Given the description of an element on the screen output the (x, y) to click on. 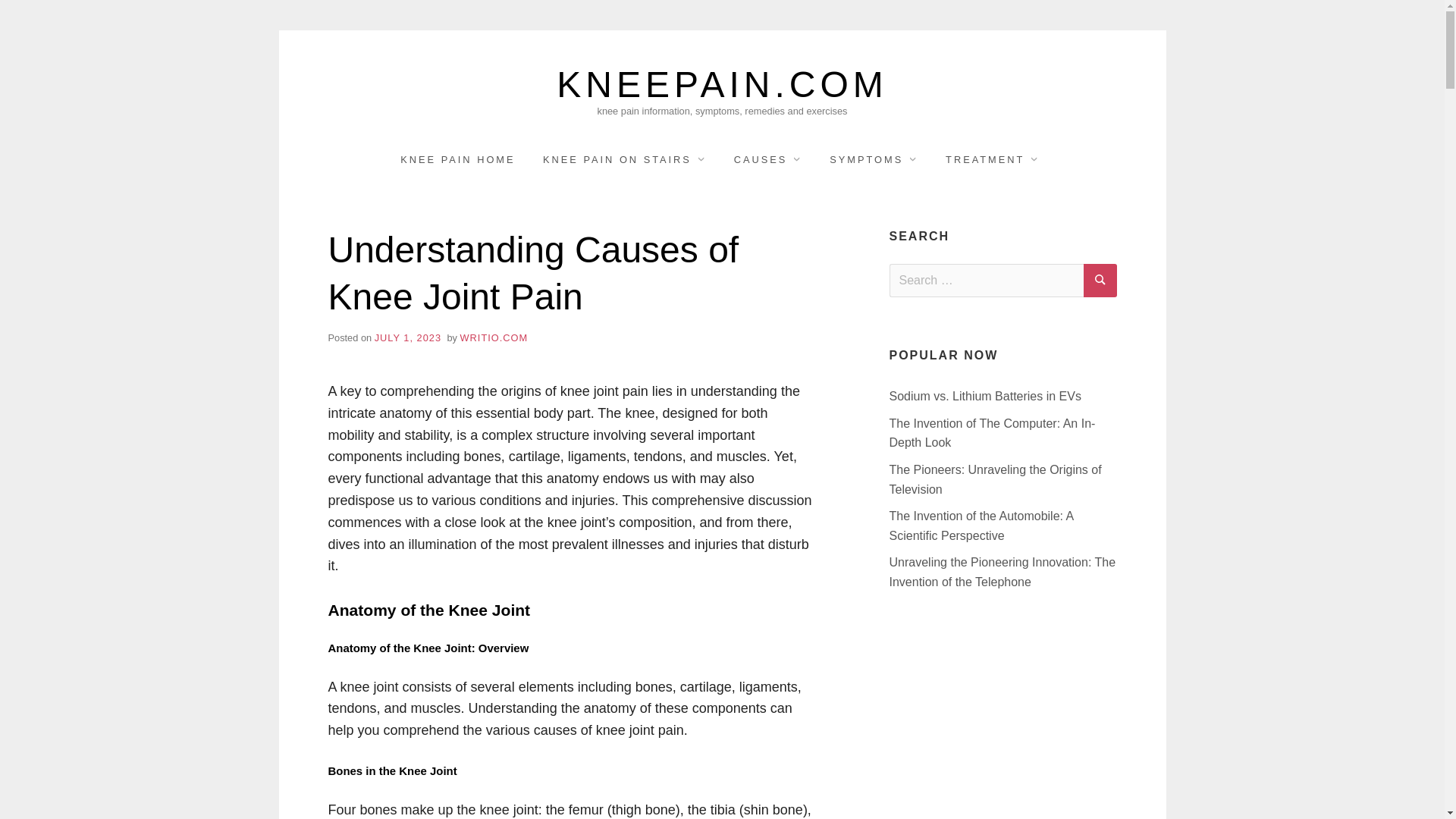
SYMPTOMS (873, 158)
KNEEPAIN.COM (722, 84)
KNEE PAIN ON STAIRS (624, 158)
CAUSES (767, 158)
KNEE PAIN HOME (457, 158)
